Given the description of an element on the screen output the (x, y) to click on. 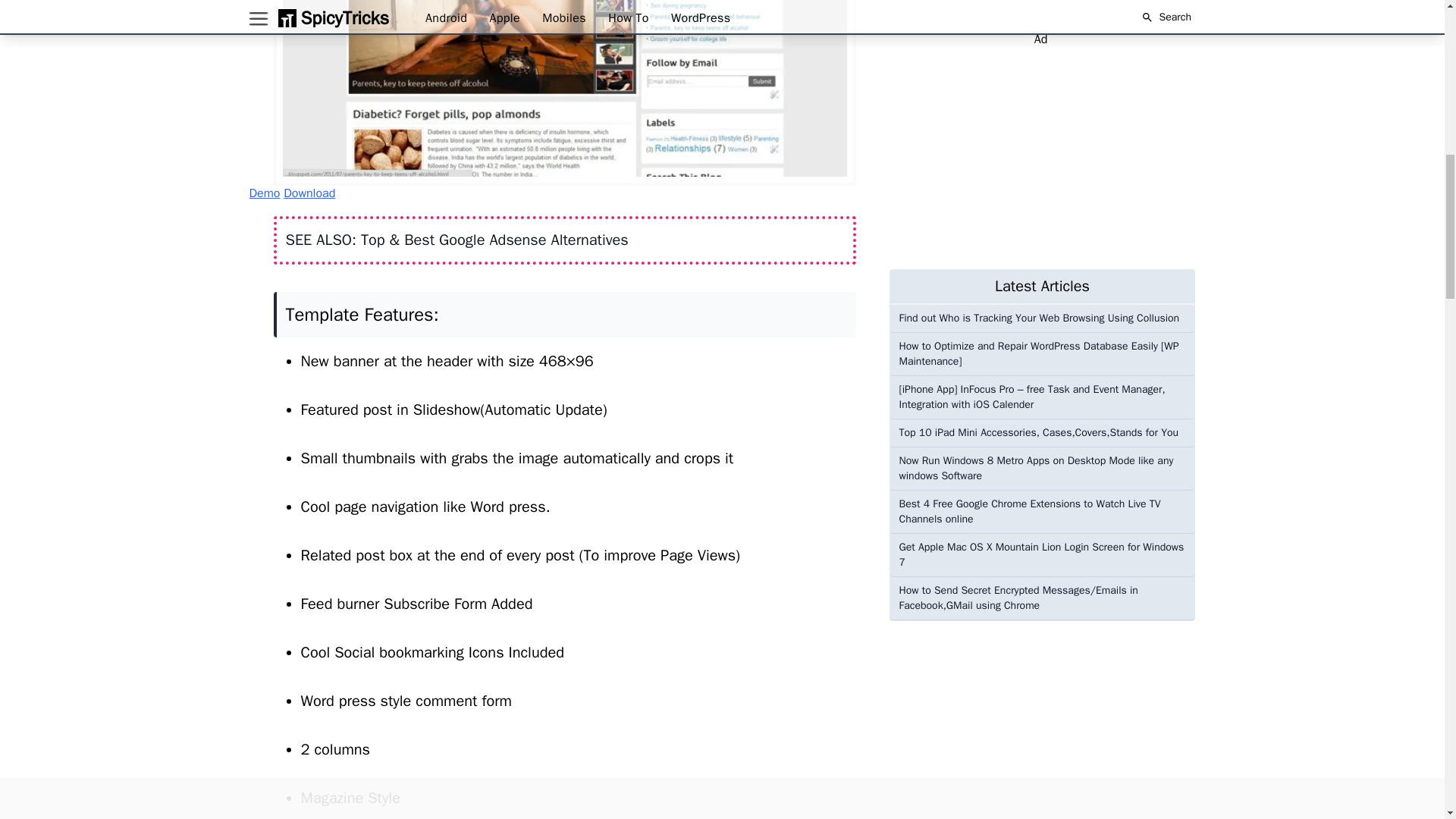
Demo (263, 192)
blogshadow-template (564, 92)
Download (308, 192)
